Given the description of an element on the screen output the (x, y) to click on. 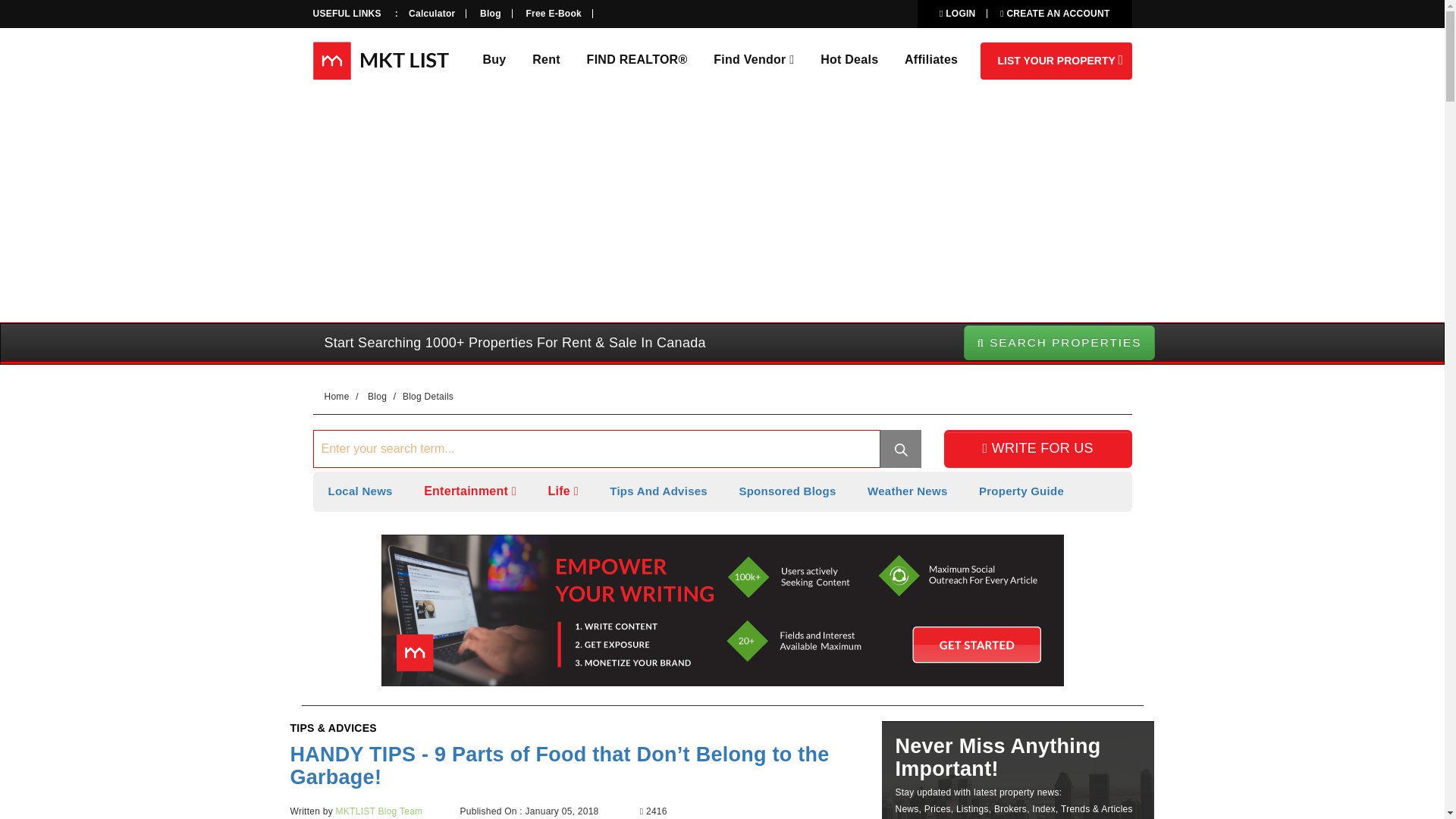
Rent (546, 59)
LOGIN (957, 13)
Find Vendor (753, 59)
CREATE AN ACCOUNT (1054, 13)
Free E-Book (552, 13)
Affiliates (931, 59)
Blog (490, 13)
WRITE FOR US (1037, 448)
Hot Deals (849, 59)
LIST YOUR PROPERTY (1055, 60)
Home (336, 396)
Buy (493, 59)
Blog (376, 396)
Calculator (431, 13)
